Given the description of an element on the screen output the (x, y) to click on. 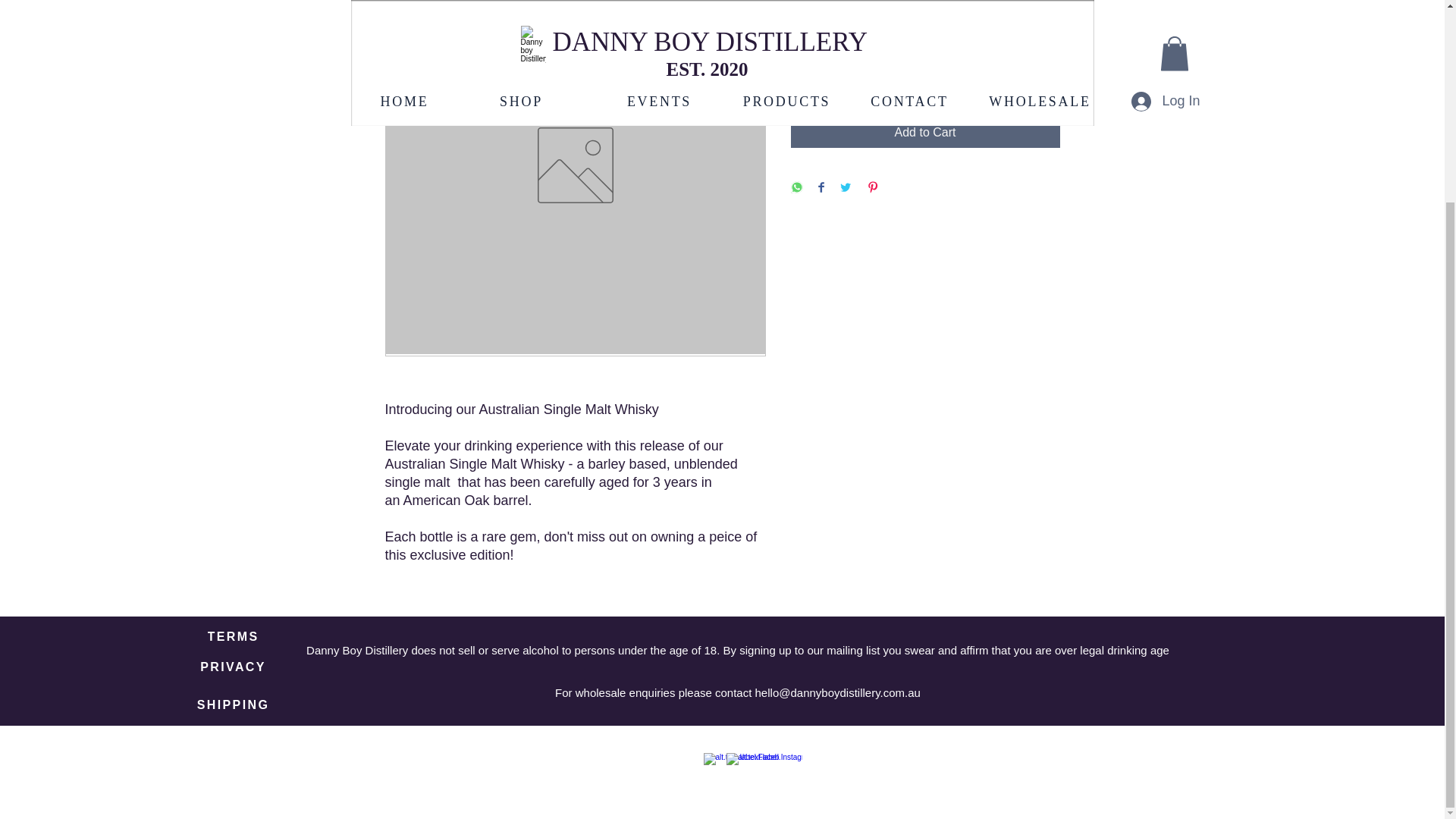
SHIPPING (232, 705)
Add to Cart (924, 132)
TERMS (232, 636)
PRIVACY (232, 666)
1 (818, 77)
